Given the description of an element on the screen output the (x, y) to click on. 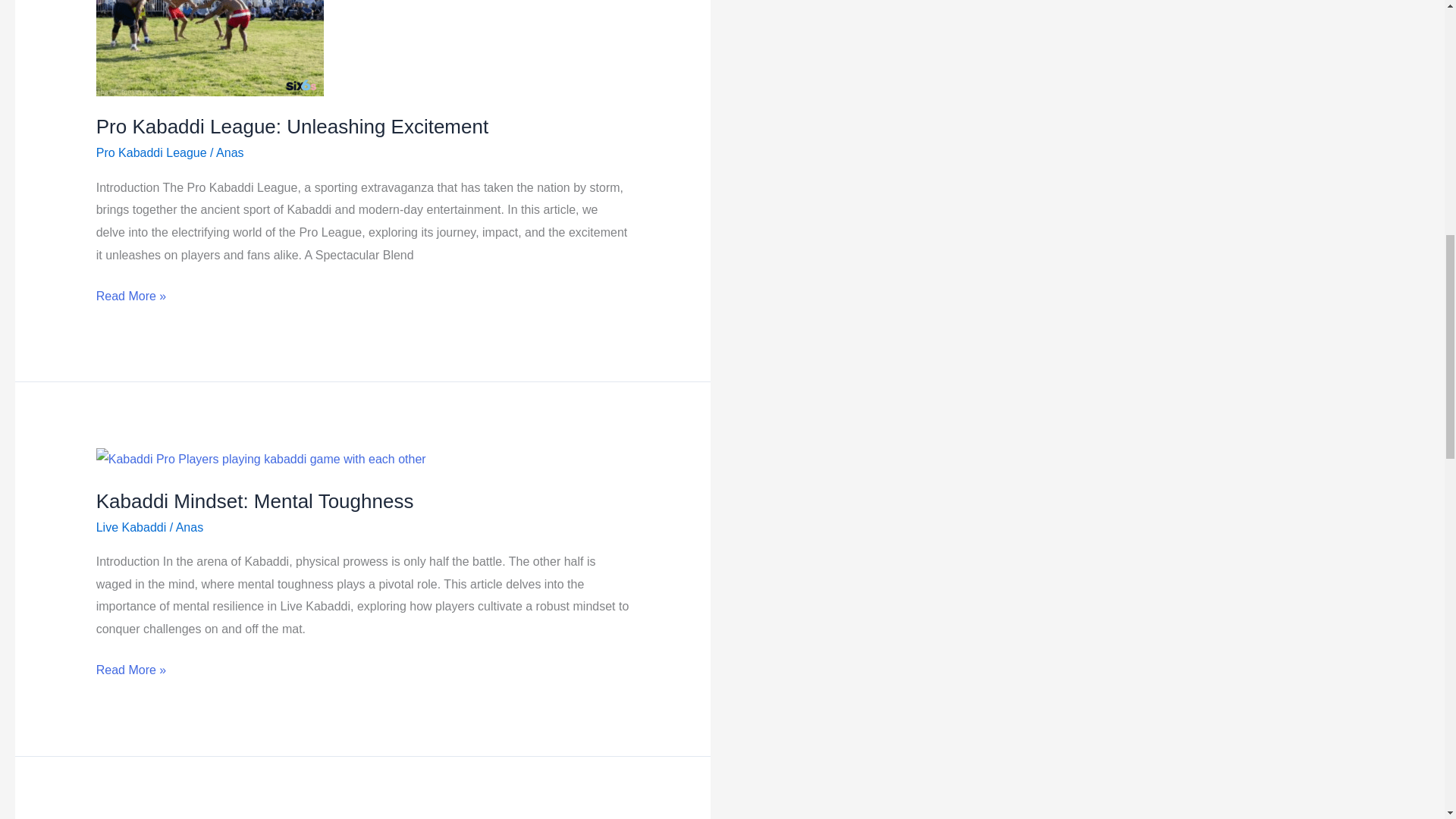
Live Kabaddi (131, 526)
View all posts by Anas (229, 152)
Pro Kabaddi League (151, 152)
Anas (189, 526)
Anas (229, 152)
View all posts by Anas (189, 526)
Pro Kabaddi League: Unleashing Excitement (291, 126)
Kabaddi Mindset: Mental Toughness (254, 500)
